Given the description of an element on the screen output the (x, y) to click on. 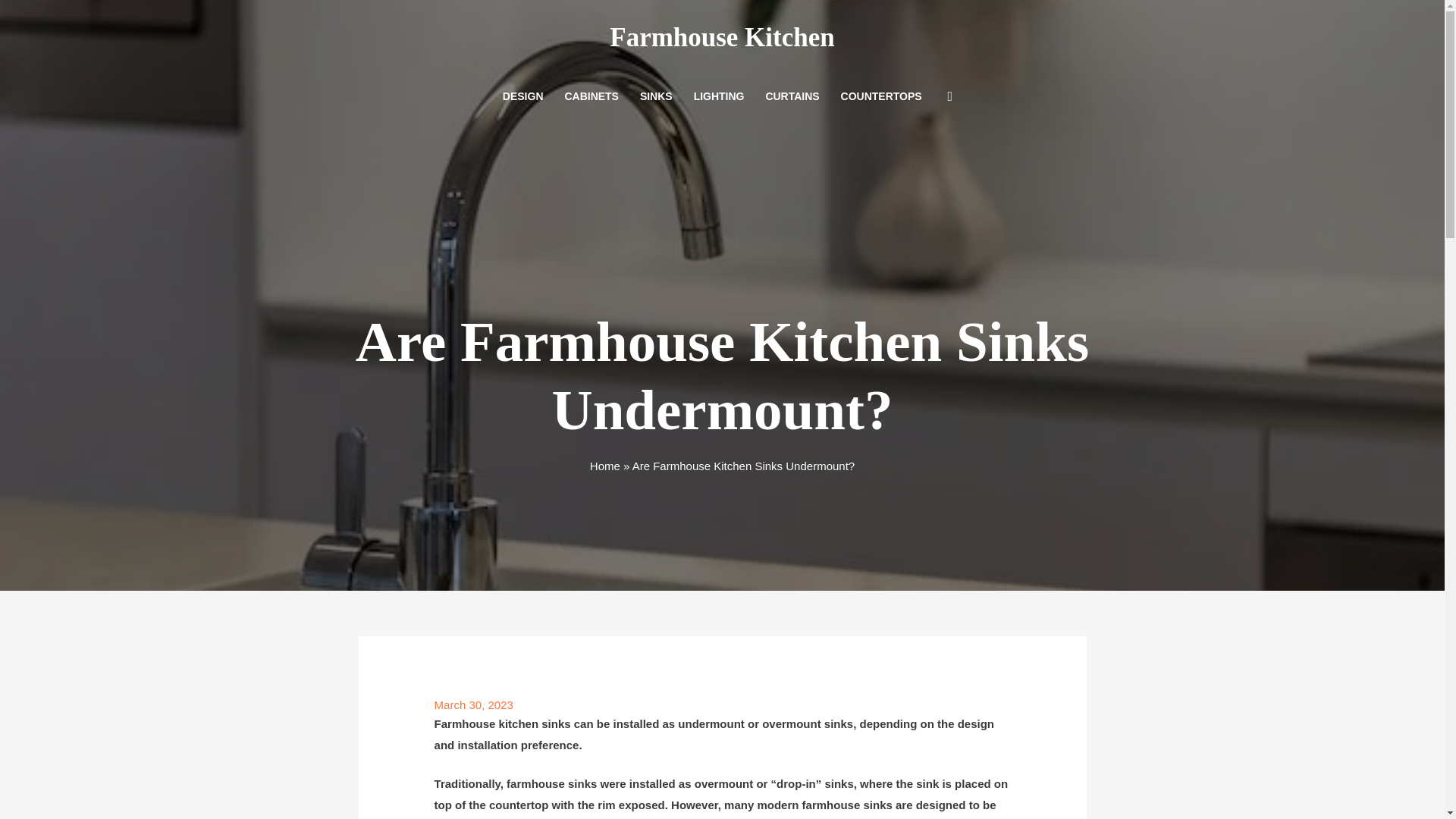
DESIGN (523, 96)
Home (604, 465)
Farmhouse Kitchen (722, 37)
LIGHTING (718, 96)
SINKS (655, 96)
COUNTERTOPS (881, 96)
CURTAINS (791, 96)
CABINETS (590, 96)
